Given the description of an element on the screen output the (x, y) to click on. 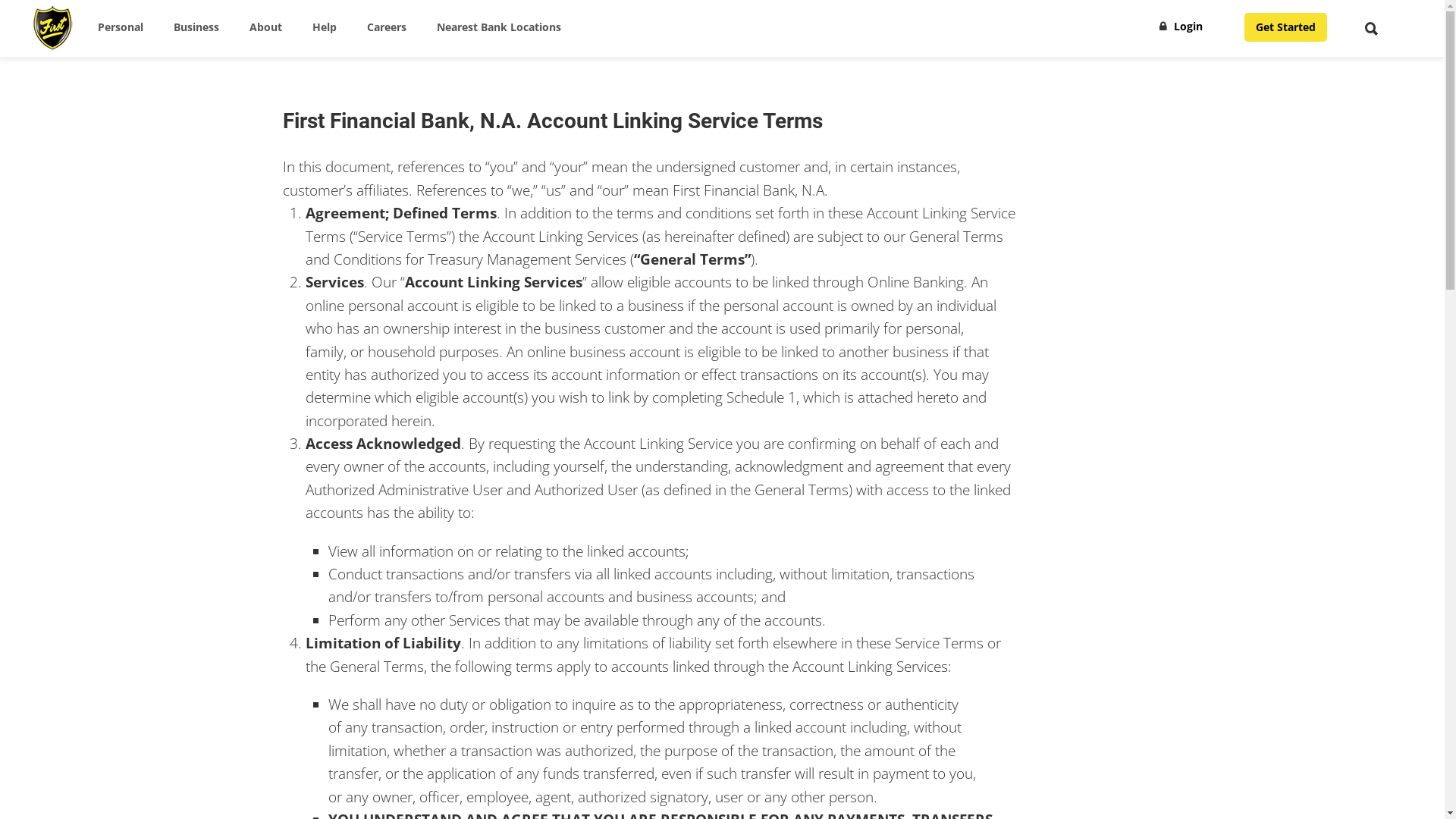
Get Started Element type: text (1285, 26)
About Element type: text (265, 27)
Personal Element type: text (120, 27)
Login Element type: text (1180, 26)
Skip Navigation Element type: text (78, 8)
Nearest Bank Locations Element type: text (498, 27)
Business Element type: text (196, 27)
Help Element type: text (324, 27)
Careers Element type: text (386, 27)
